Given the description of an element on the screen output the (x, y) to click on. 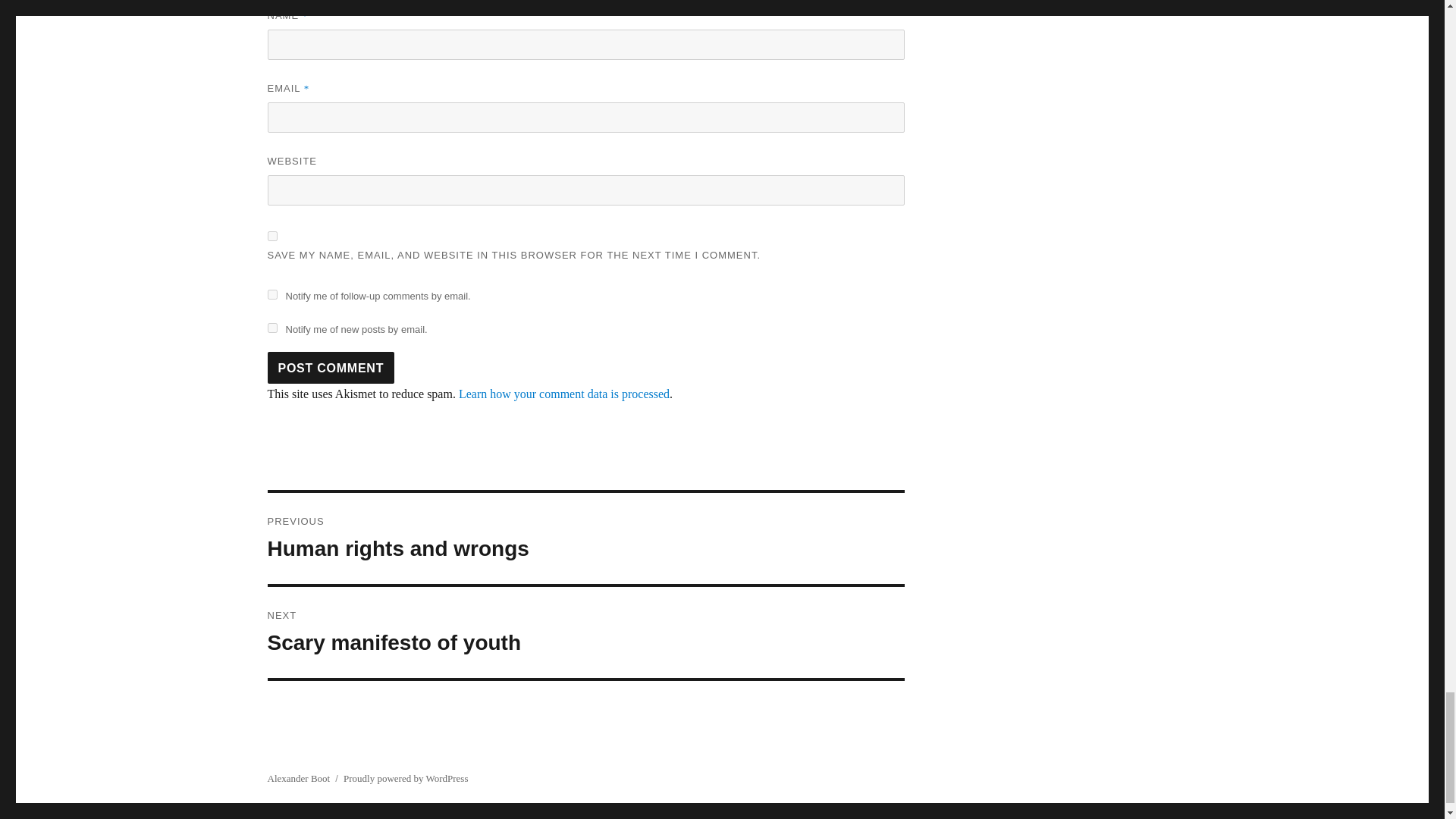
subscribe (271, 294)
Post Comment (330, 368)
yes (271, 235)
subscribe (271, 327)
